Given the description of an element on the screen output the (x, y) to click on. 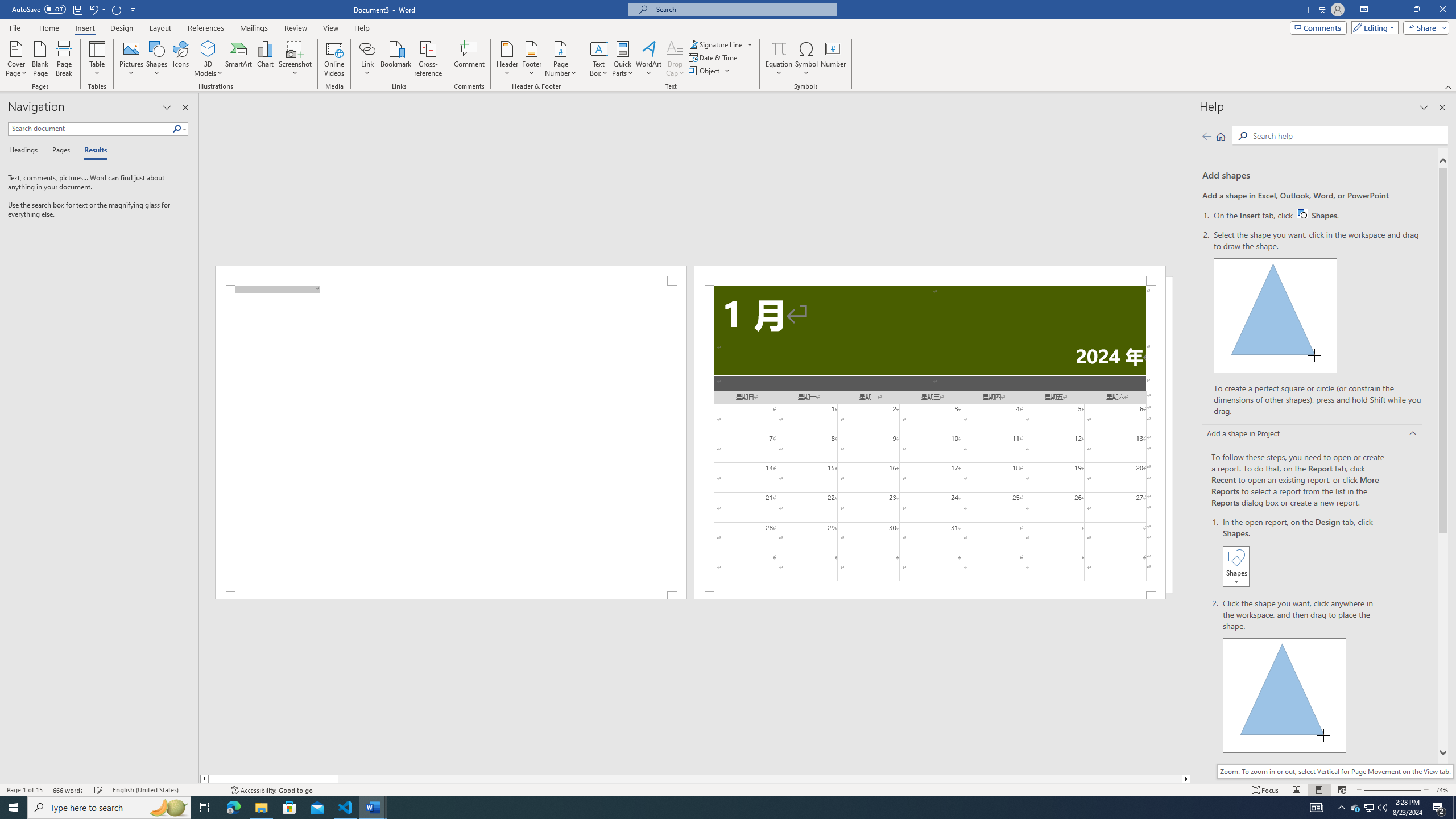
Footer -Section 1- (930, 595)
In the open report, on the Design tab, click Shapes. (1304, 552)
Page Number (560, 58)
Object... (709, 69)
3D Models (208, 48)
Spelling and Grammar Check Checking (98, 790)
Page 2 content (1318, 214)
Link (930, 438)
Cross-reference... (367, 48)
